Given the description of an element on the screen output the (x, y) to click on. 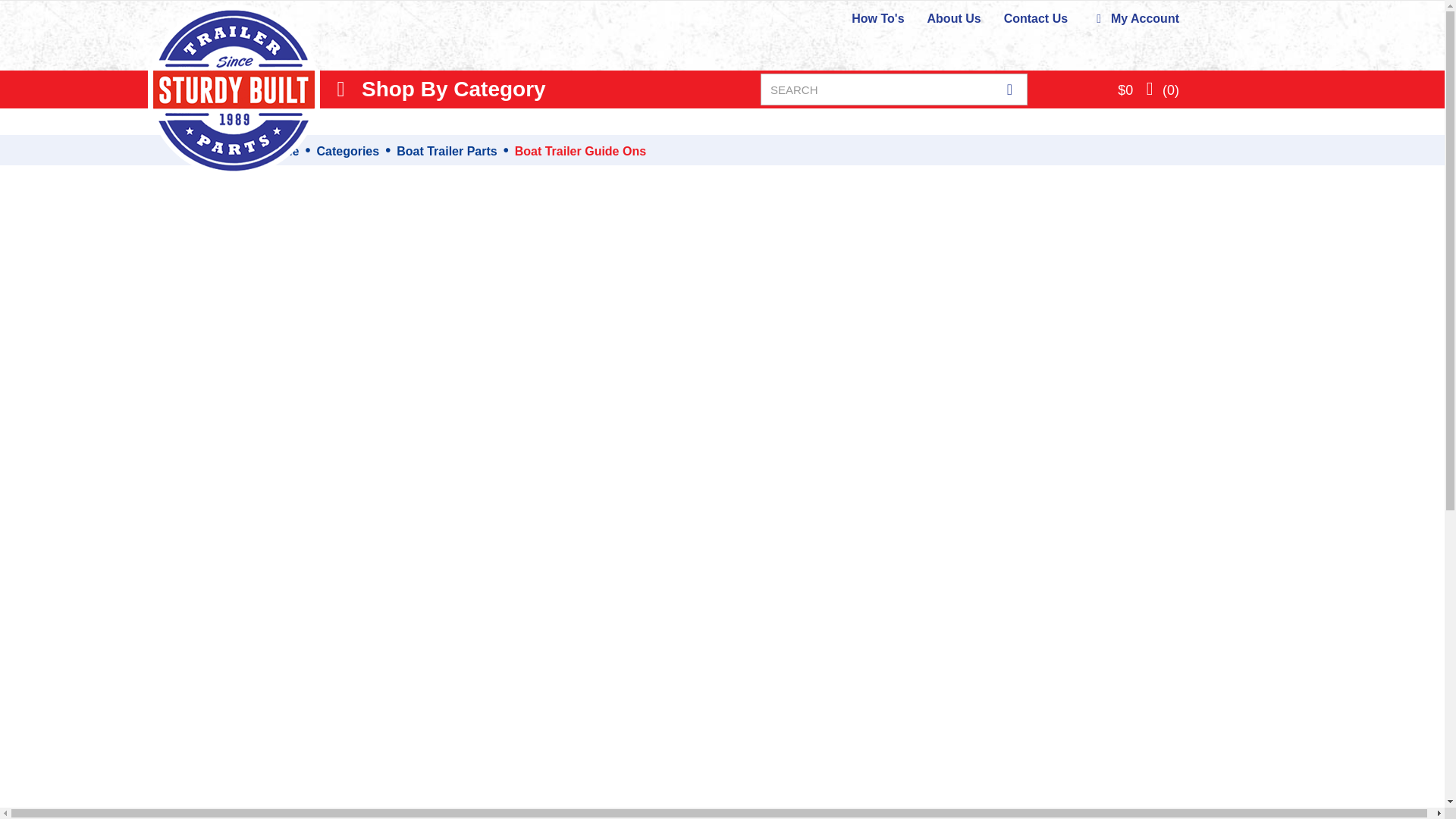
My Account (1134, 18)
Contact Us (1035, 18)
Boat Trailer Parts (446, 151)
How To's (877, 18)
Boat Trailer Guide Ons (580, 151)
About Us (954, 18)
Shop By Category (437, 89)
Categories (346, 151)
Home (281, 151)
